Given the description of an element on the screen output the (x, y) to click on. 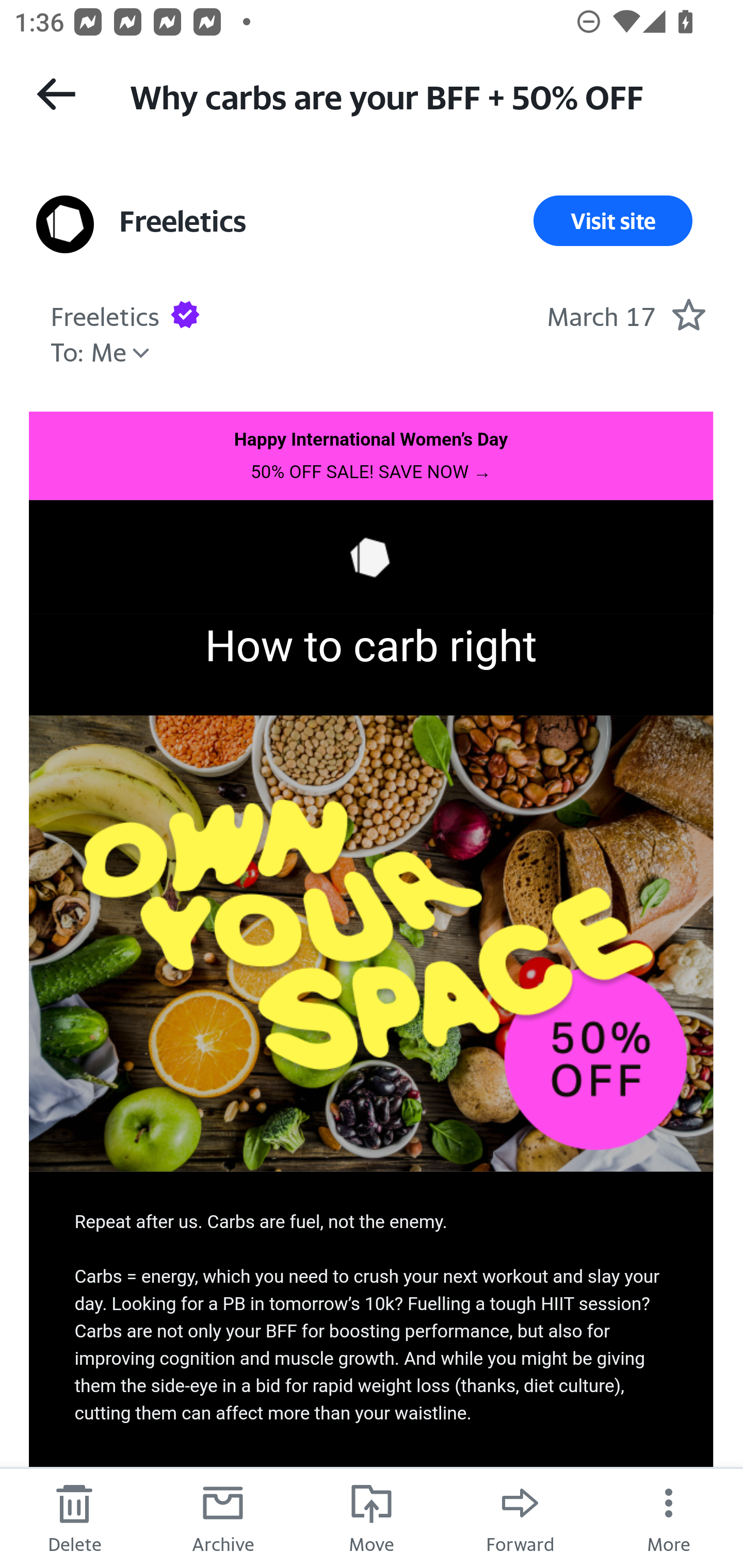
Back (55, 93)
Why carbs are your BFF + 50% OFF (418, 94)
View all messages from sender (64, 225)
Visit site Visit Site Link (612, 221)
Freeletics Sender Freeletics (182, 220)
Freeletics Sender Freeletics (104, 314)
Mark as starred. (688, 314)
Happy International Women’s Day (371, 438)
50% OFF SALE! SAVE NOW → (370, 471)
Delete (74, 1517)
Archive (222, 1517)
Move (371, 1517)
Forward (519, 1517)
More (668, 1517)
